Given the description of an element on the screen output the (x, y) to click on. 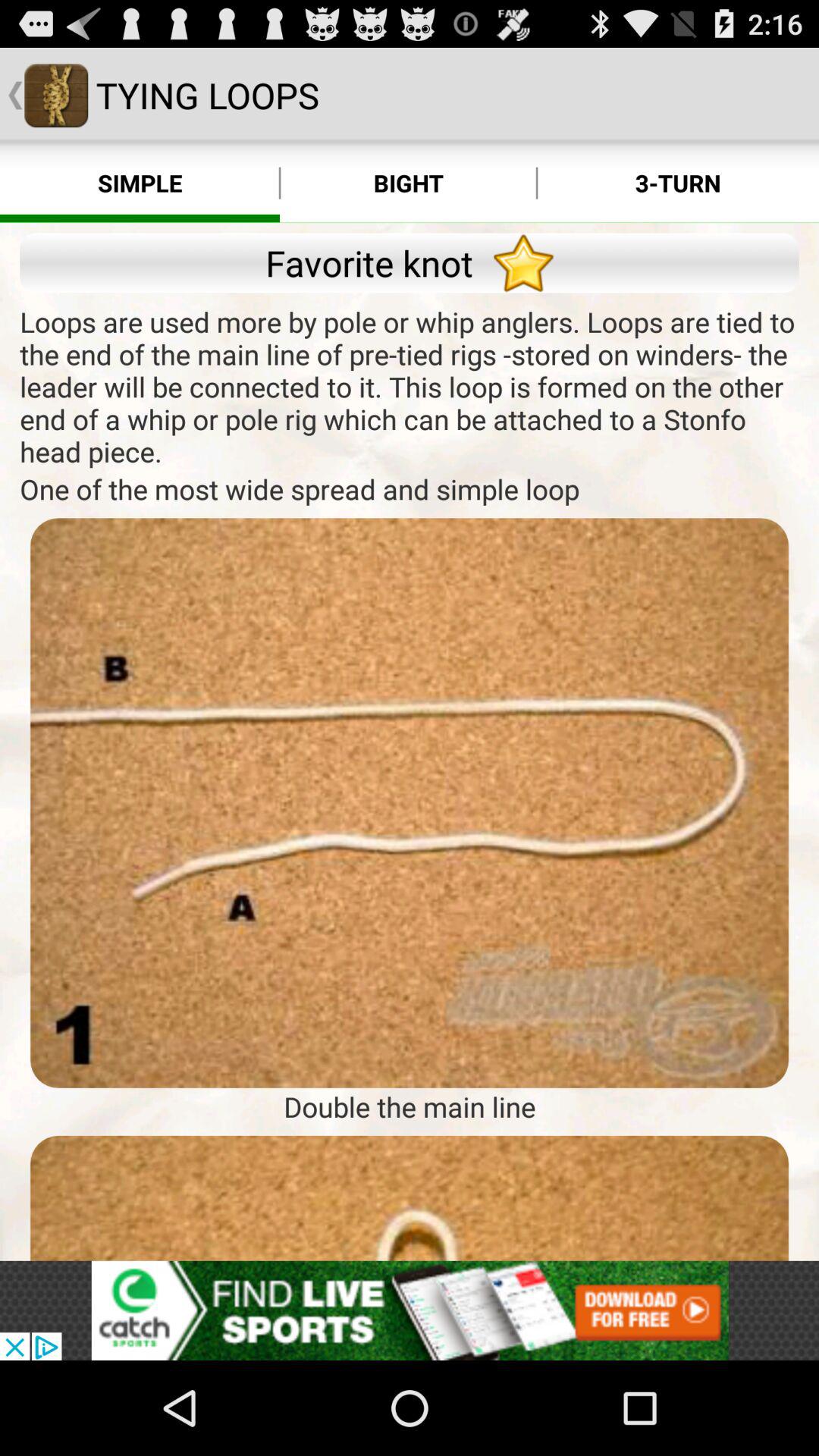
adverisment (409, 1310)
